Given the description of an element on the screen output the (x, y) to click on. 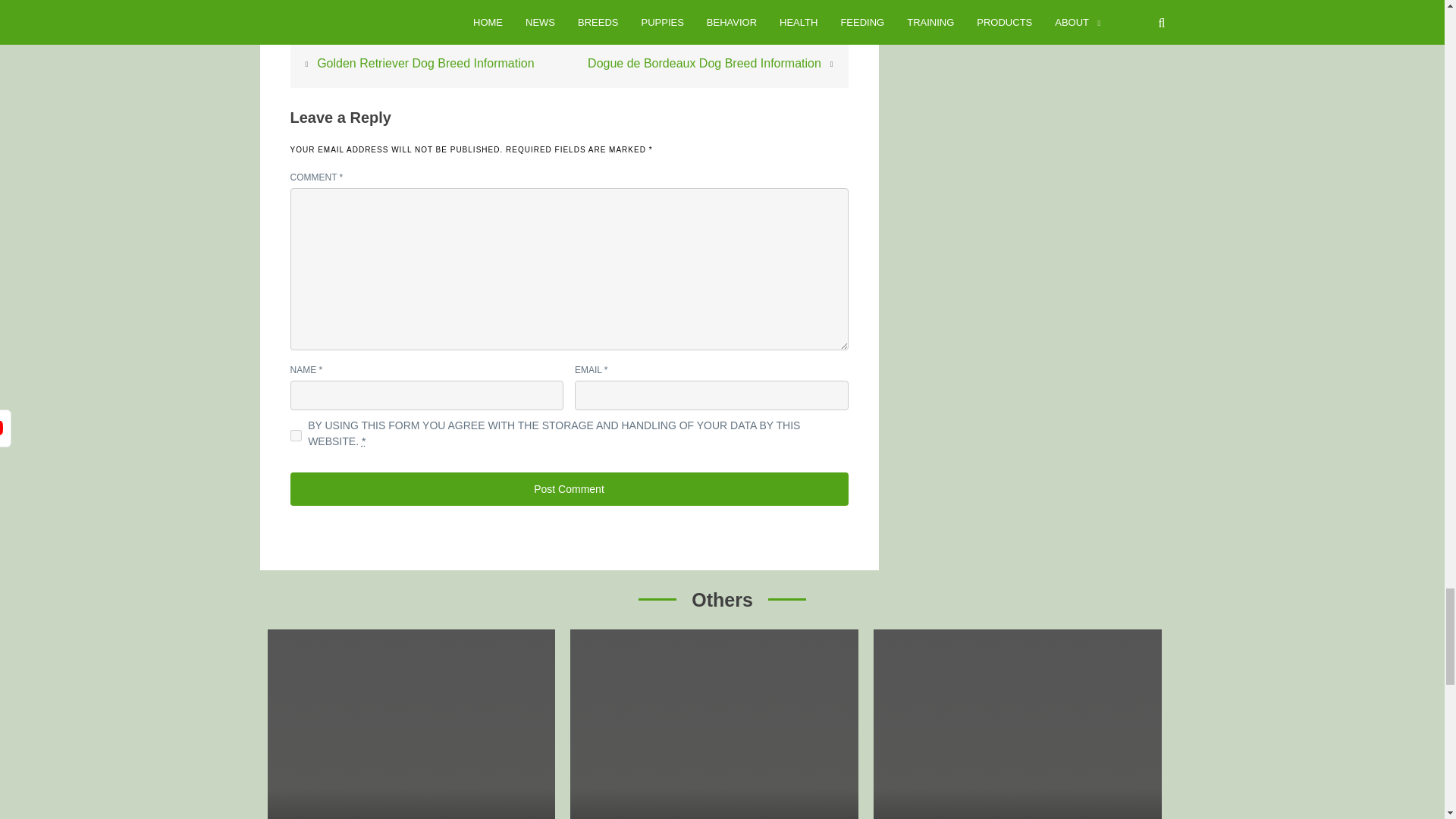
Post Comment (568, 489)
Post Comment (568, 489)
1 (295, 435)
Dog Breeds That Start With L (375, 18)
Golden Retriever Dog Breed Information (425, 62)
You need to accept this checkbox (363, 440)
Dogue de Bordeaux Dog Breed Information (704, 62)
Long Coated Dogs (527, 18)
